Given the description of an element on the screen output the (x, y) to click on. 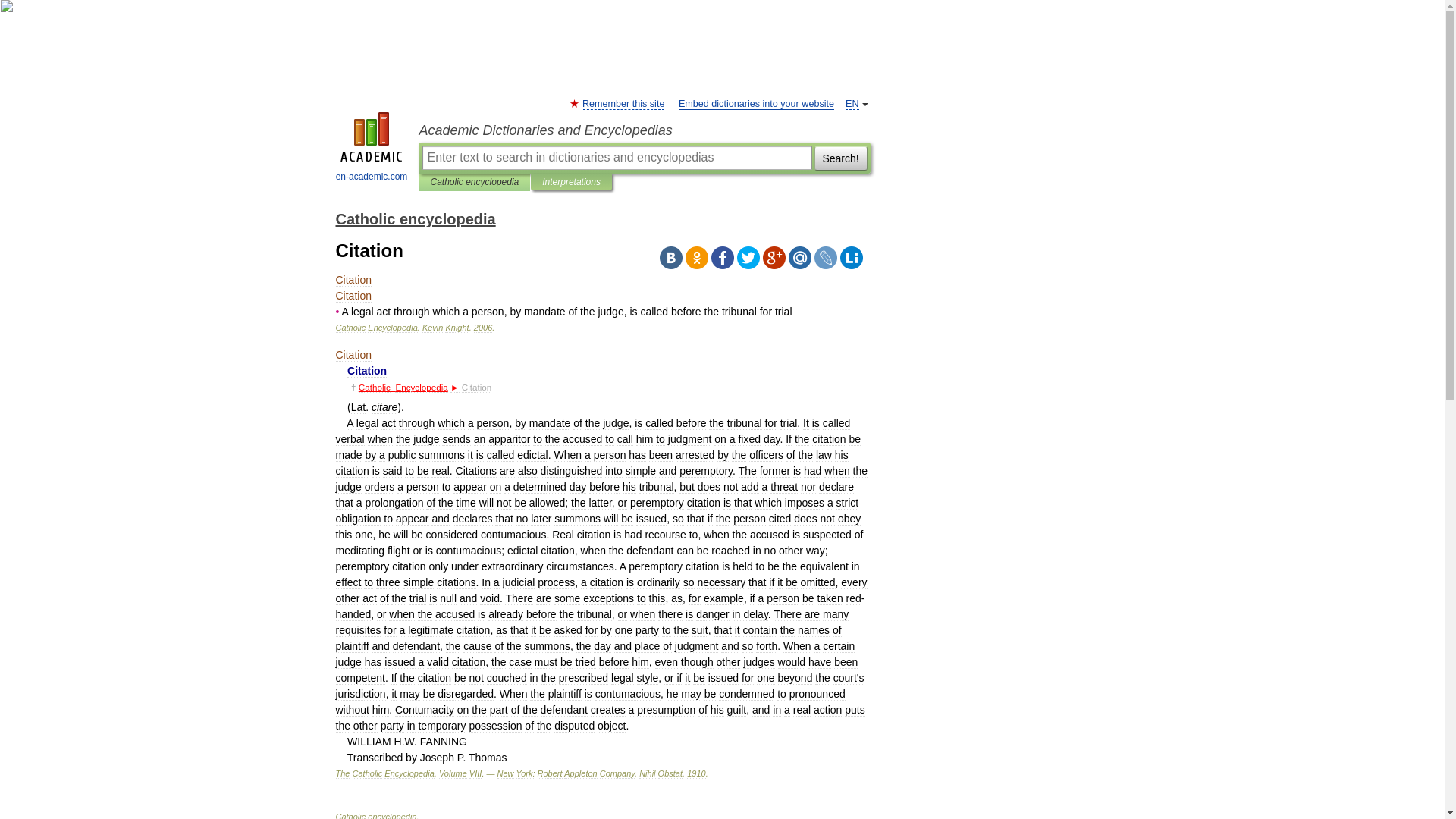
EN (852, 103)
Search! (840, 157)
Catholic encyclopedia (414, 218)
Remember this site (623, 103)
en-academic.com (371, 148)
Enter text to search in dictionaries and encyclopedias (616, 157)
Interpretations (570, 181)
Embed dictionaries into your website (756, 103)
Catholic encyclopedia (474, 181)
Academic Dictionaries and Encyclopedias (644, 130)
